Given the description of an element on the screen output the (x, y) to click on. 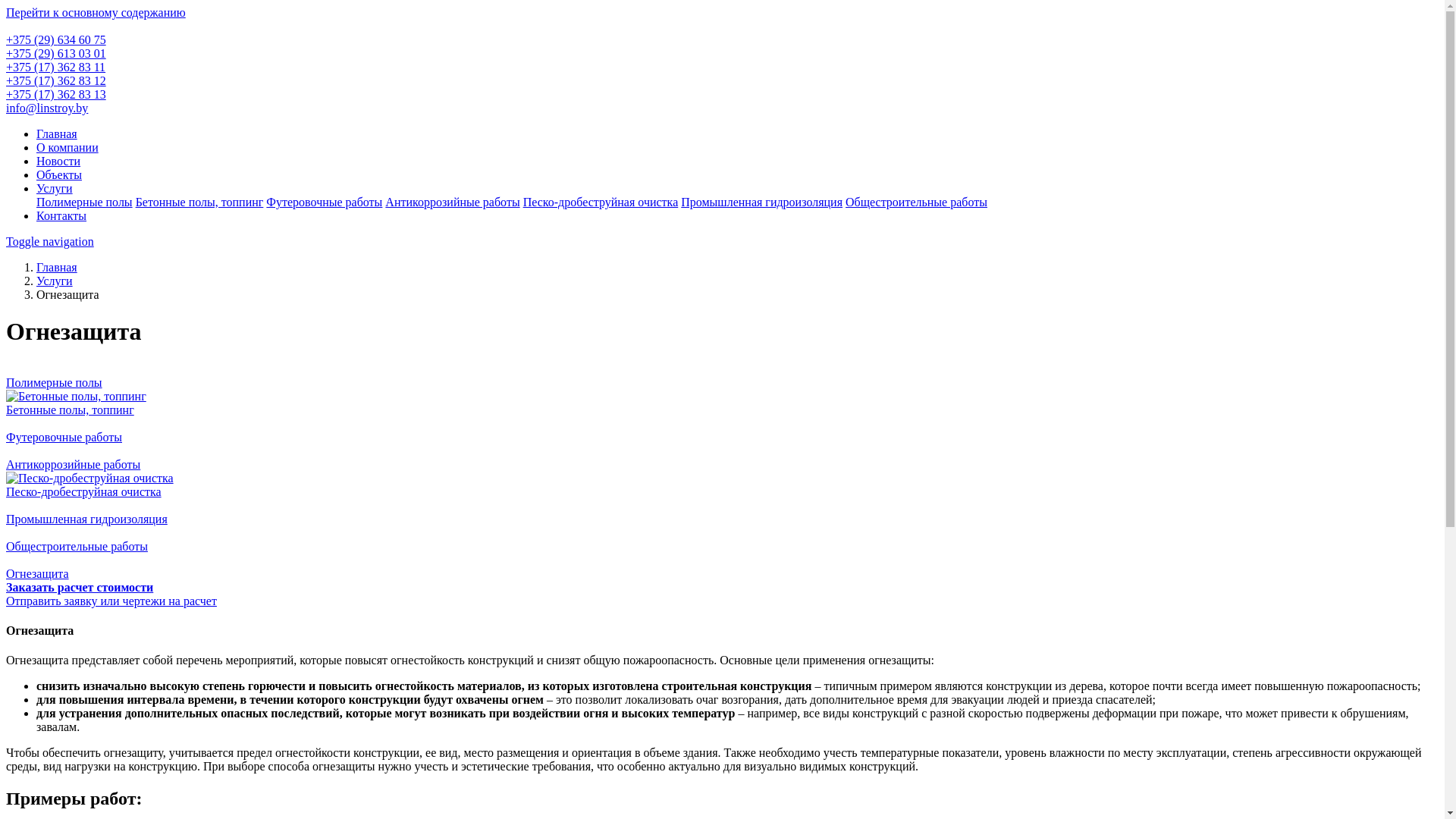
+375 (17) 362 83 11 Element type: text (55, 66)
+375 (17) 362 83 12 Element type: text (56, 80)
+375 (17) 362 83 13 Element type: text (56, 93)
info@linstroy.by Element type: text (46, 107)
Toggle navigation Element type: text (50, 241)
+375 (29) 634 60 75 Element type: text (56, 39)
+375 (29) 613 03 01 Element type: text (56, 53)
